Given the description of an element on the screen output the (x, y) to click on. 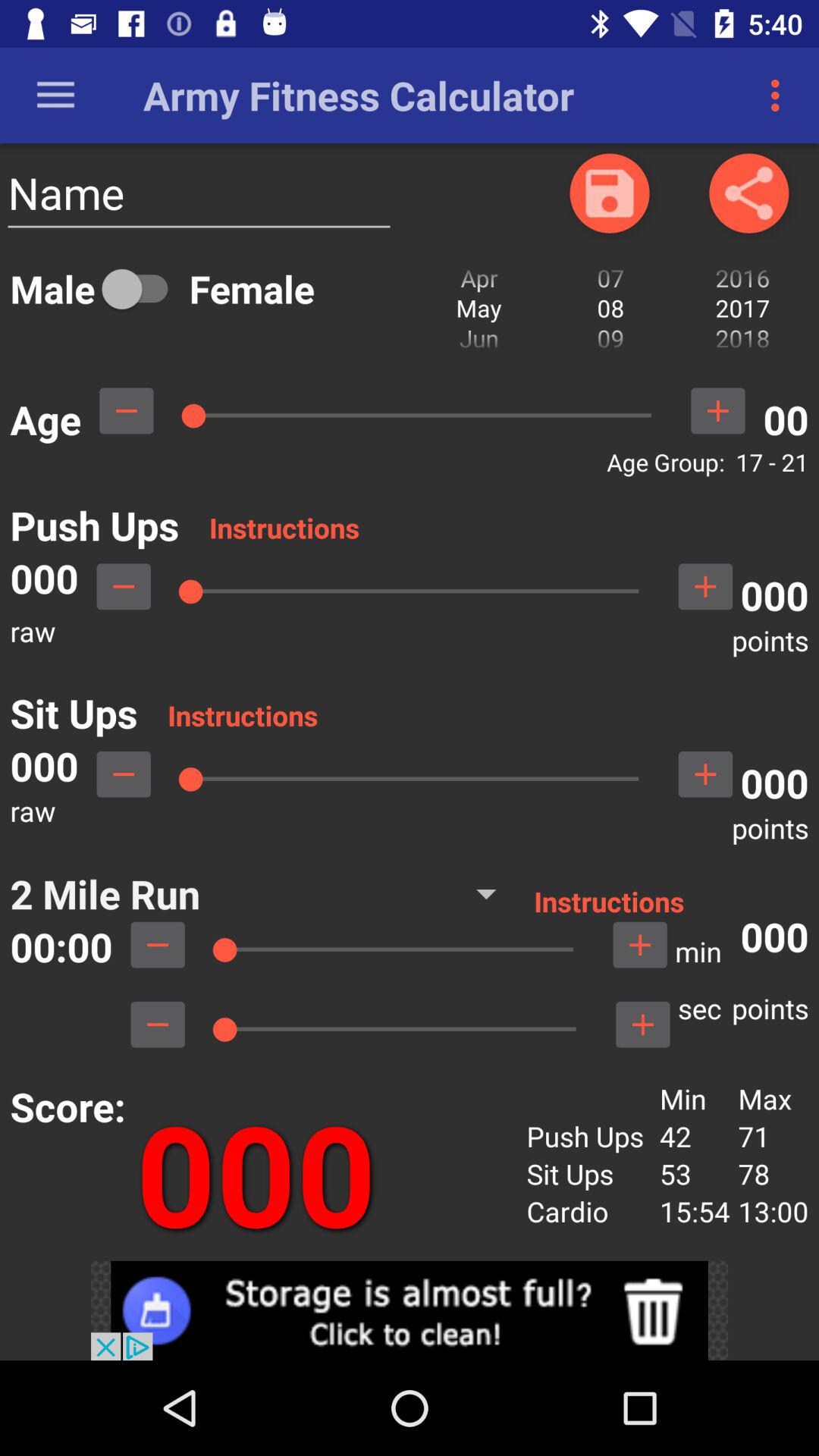
toggle gender (141, 288)
